Given the description of an element on the screen output the (x, y) to click on. 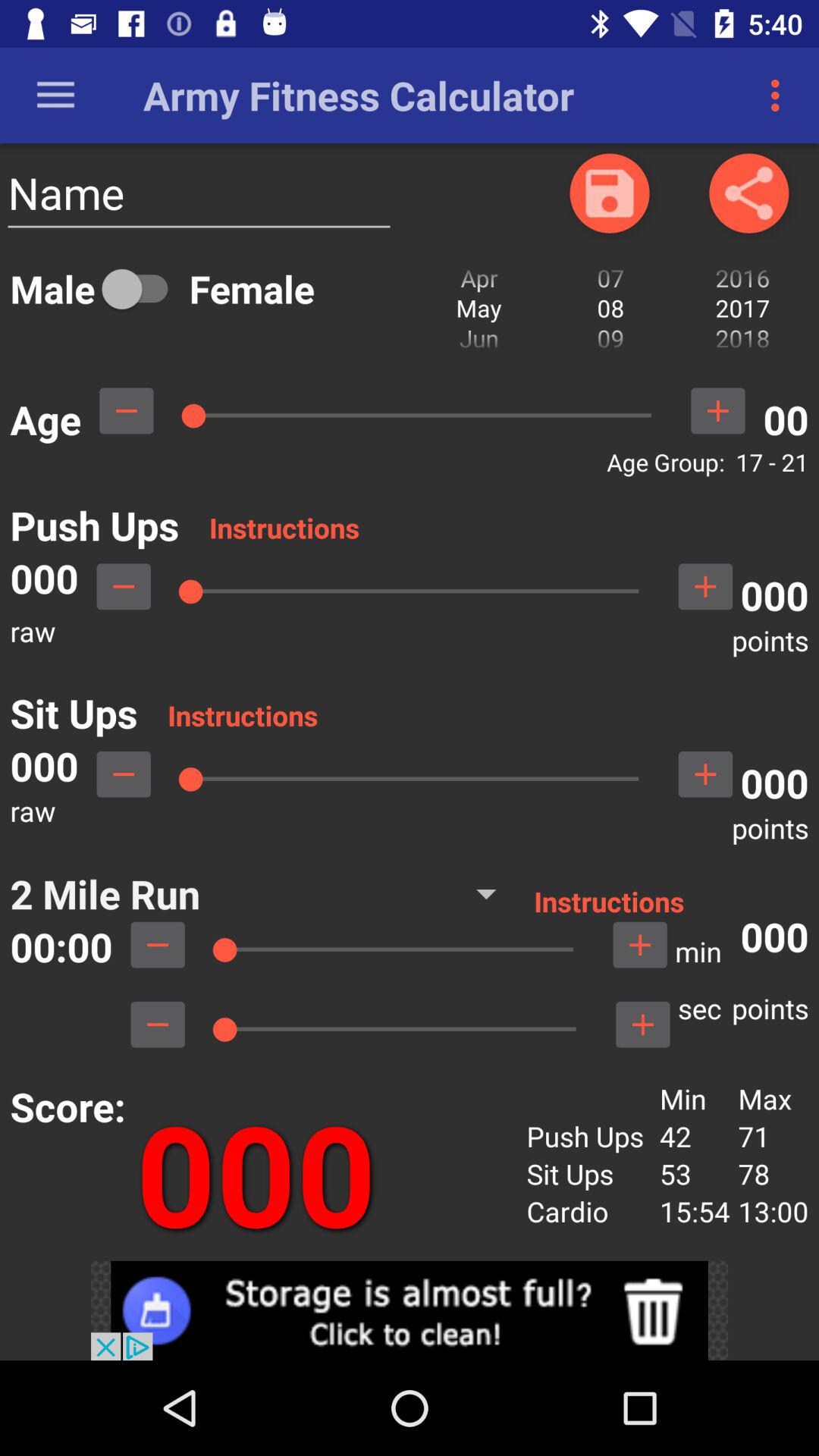
toggle gender (141, 288)
